Given the description of an element on the screen output the (x, y) to click on. 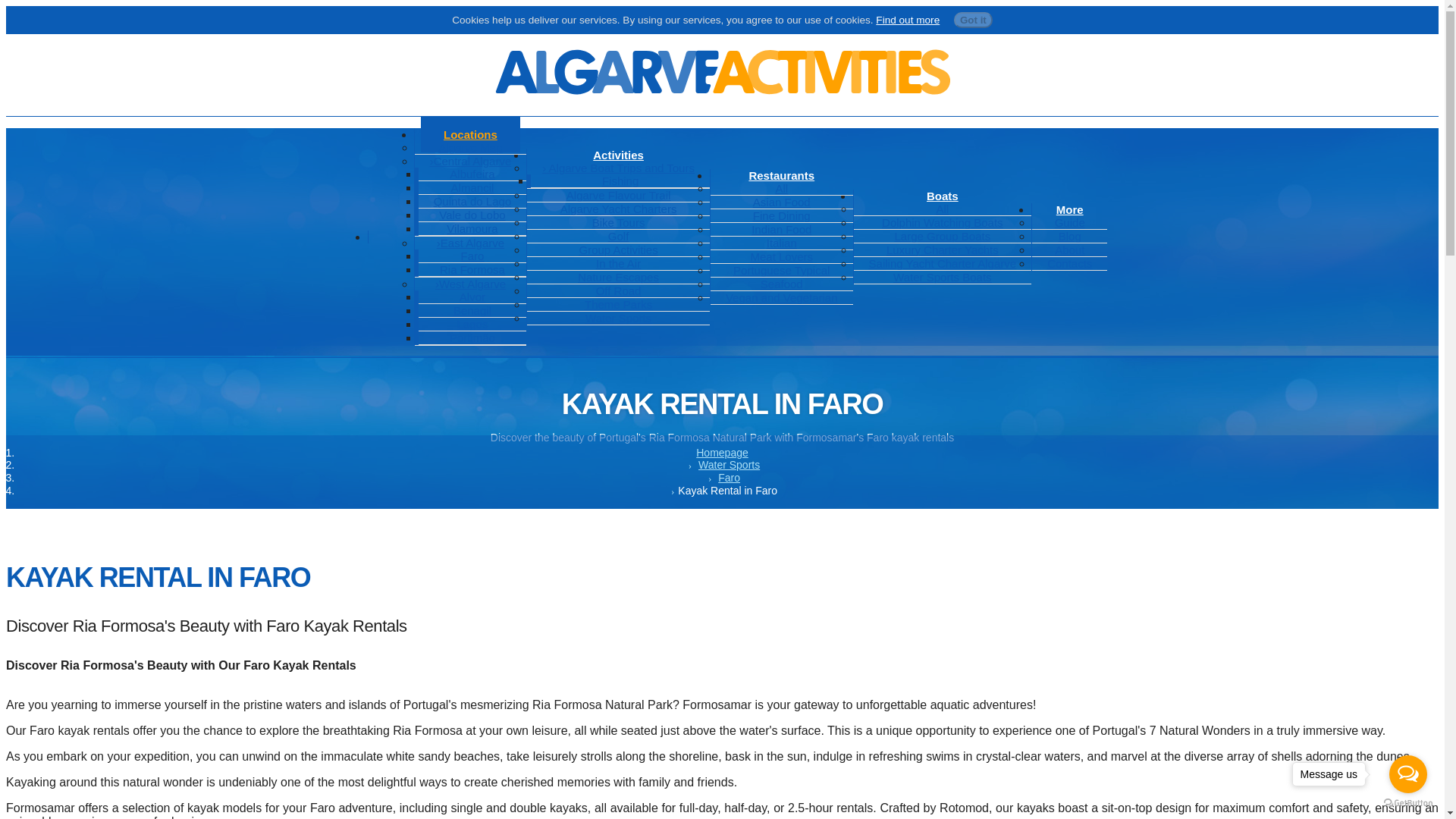
Almancil (472, 187)
Algarve Flavour Trail (618, 194)
Ria Formosa (472, 269)
Faro (472, 255)
Nature Escapes (618, 276)
Vale do Lobo (471, 214)
Quinta do Lago (473, 201)
Got it (972, 19)
Algarve Yacht Charters (618, 208)
Italian (781, 243)
Bike Tours (618, 222)
Asian Food (781, 202)
Locations (469, 134)
Albufeira (471, 173)
Find out more (907, 19)
